Given the description of an element on the screen output the (x, y) to click on. 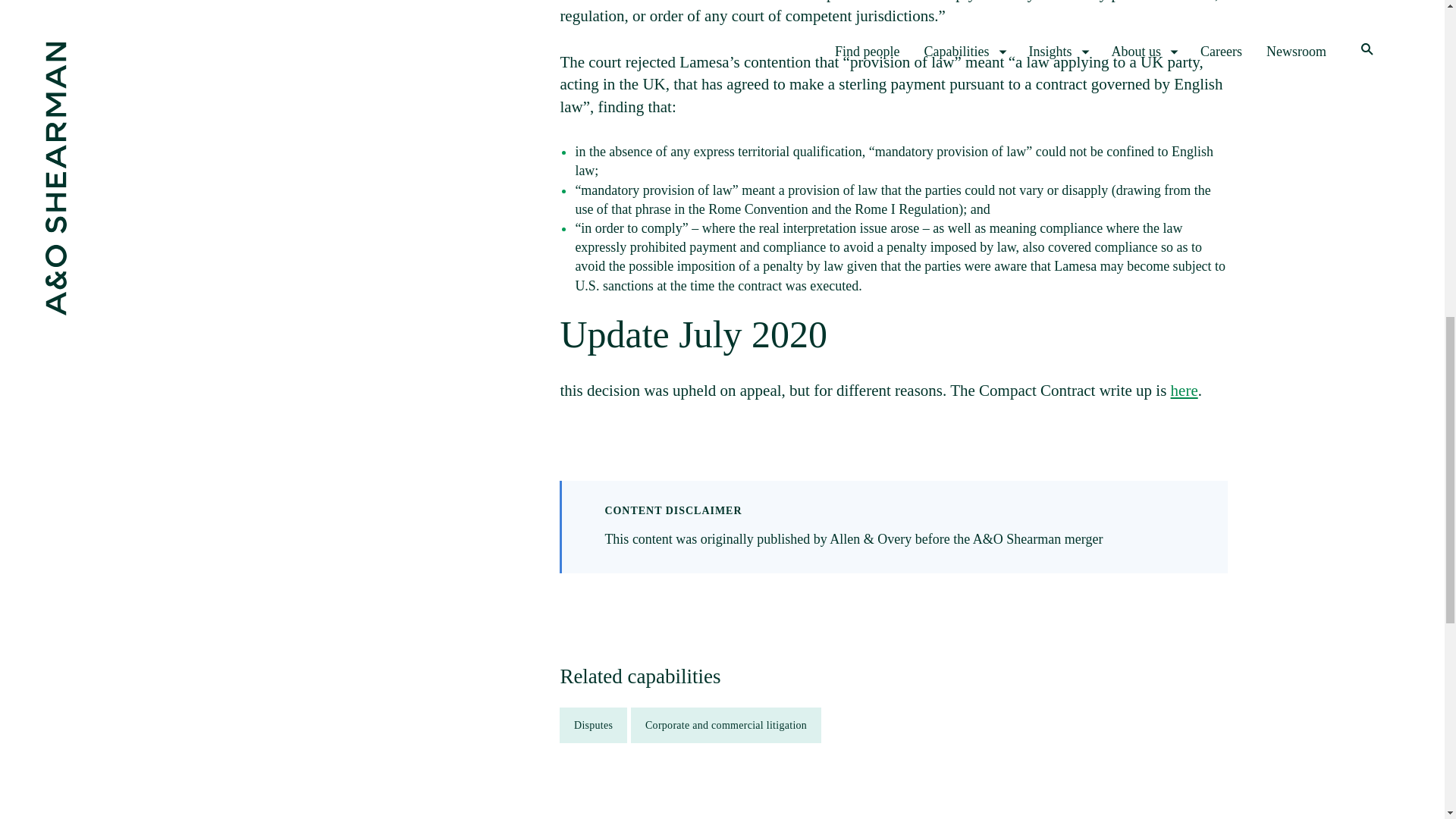
Disputes (593, 724)
here (1184, 390)
Corporate and commercial litigation (725, 724)
